Given the description of an element on the screen output the (x, y) to click on. 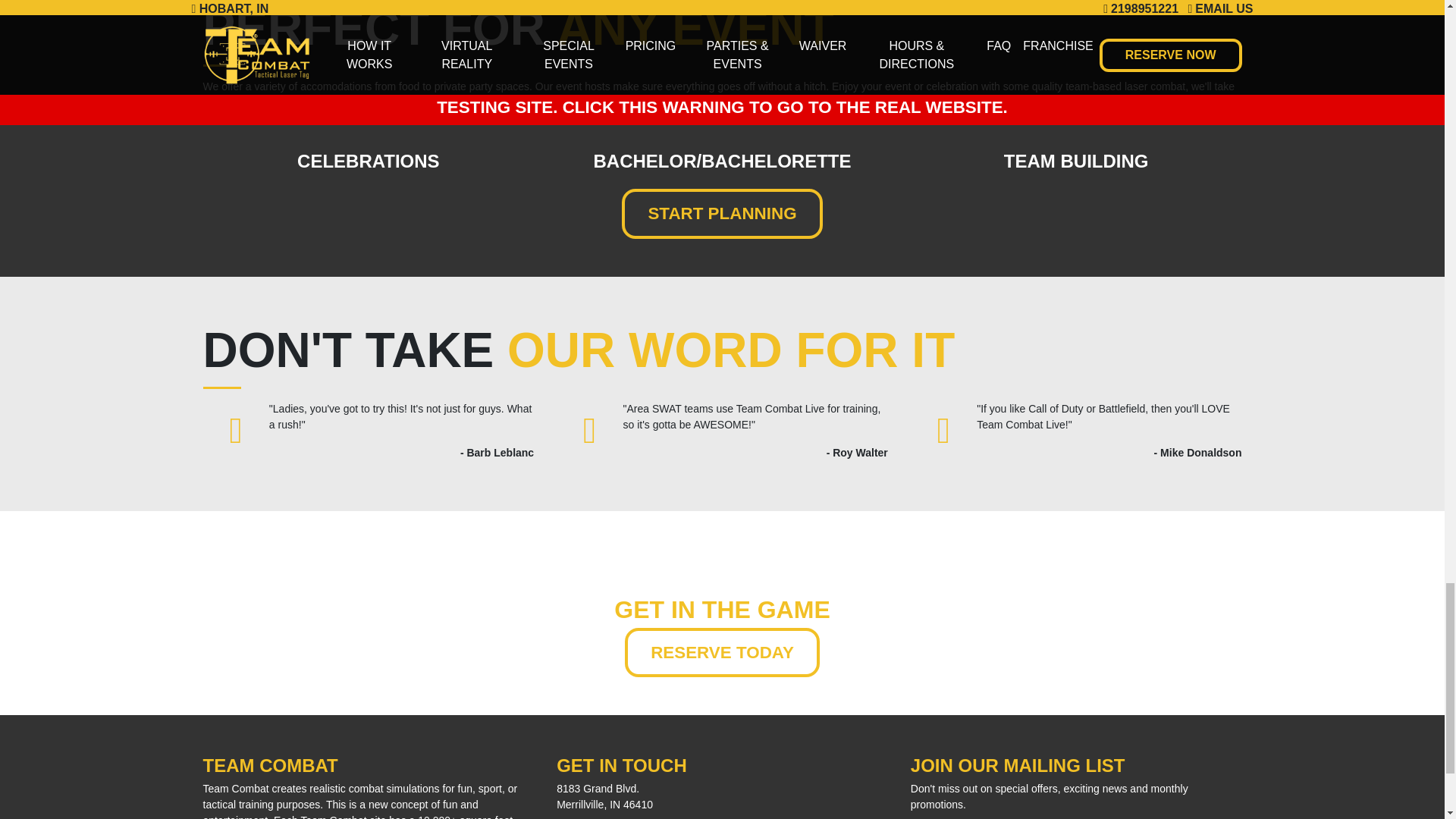
RESERVE TODAY (721, 653)
START PLANNING (721, 214)
